Given the description of an element on the screen output the (x, y) to click on. 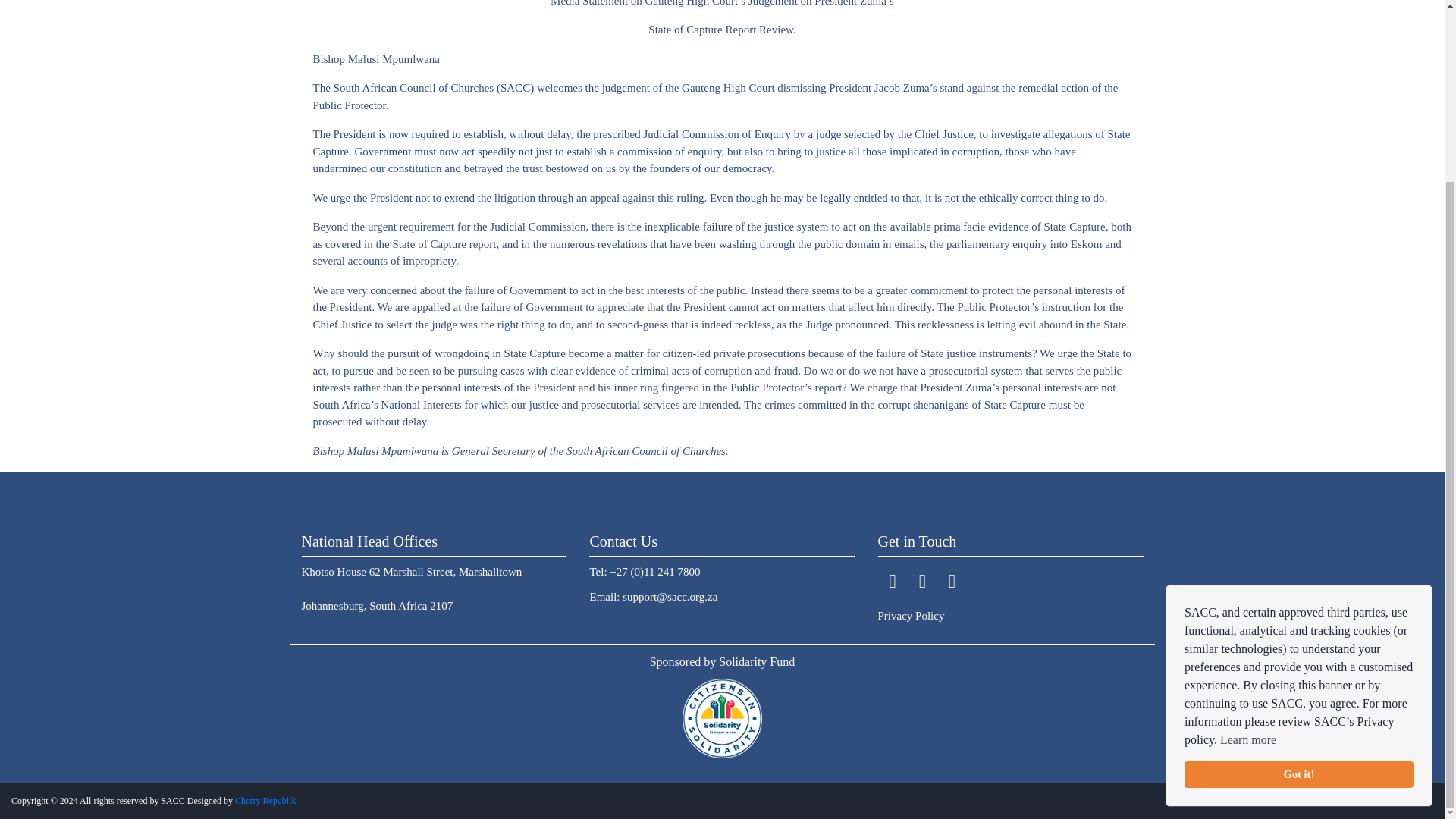
Privacy Policy (910, 615)
Learn more (1248, 516)
Got it! (1299, 551)
Cherry Republik (264, 800)
